Given the description of an element on the screen output the (x, y) to click on. 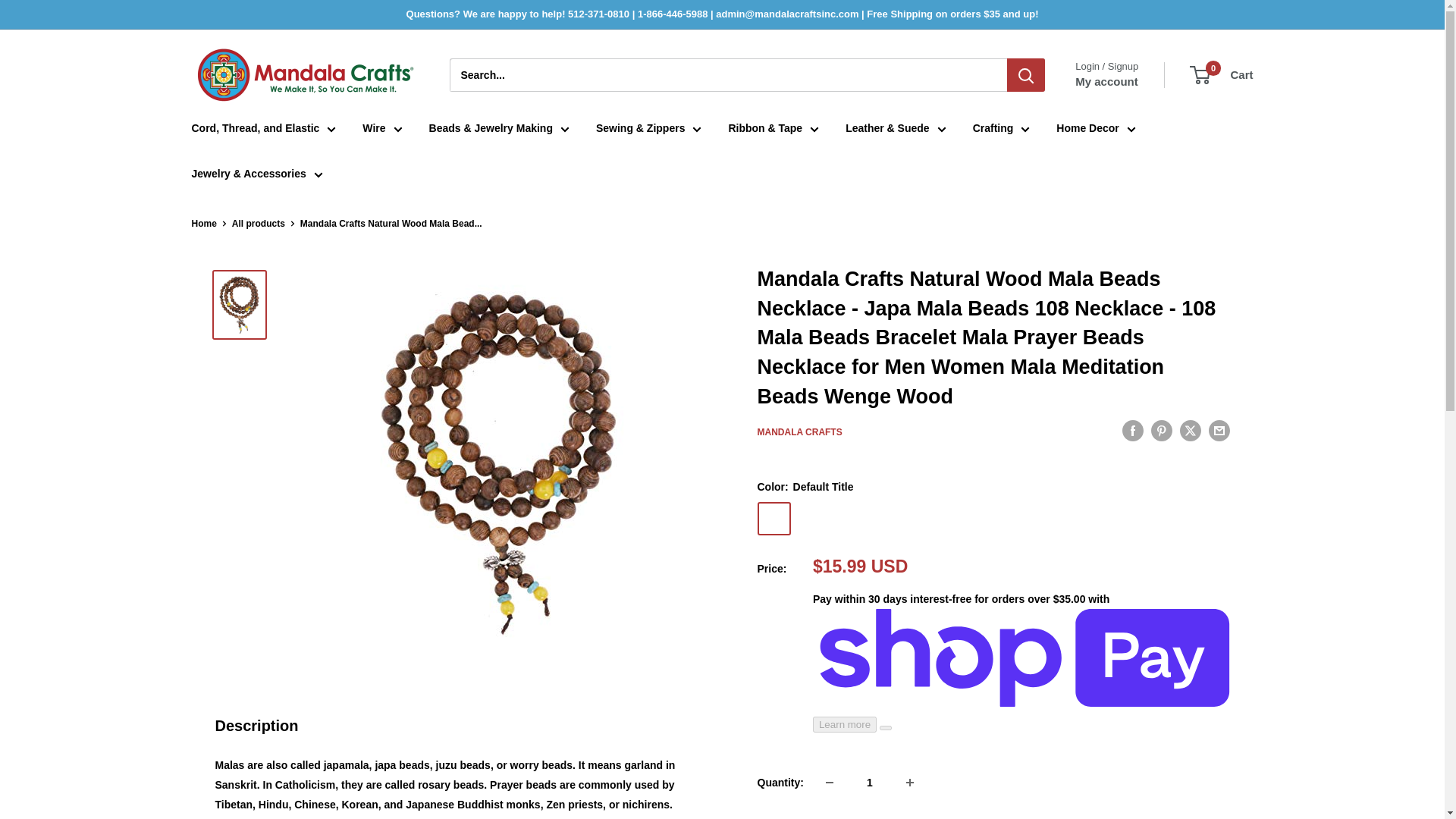
Default Title (773, 518)
1 (869, 782)
Increase quantity by 1 (909, 782)
Decrease quantity by 1 (829, 782)
